Given the description of an element on the screen output the (x, y) to click on. 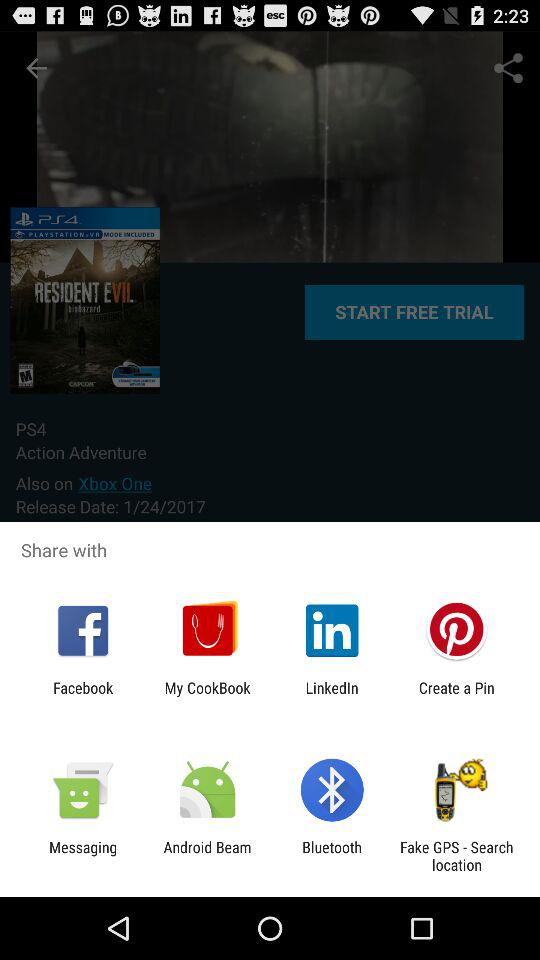
press item to the right of bluetooth (456, 856)
